Given the description of an element on the screen output the (x, y) to click on. 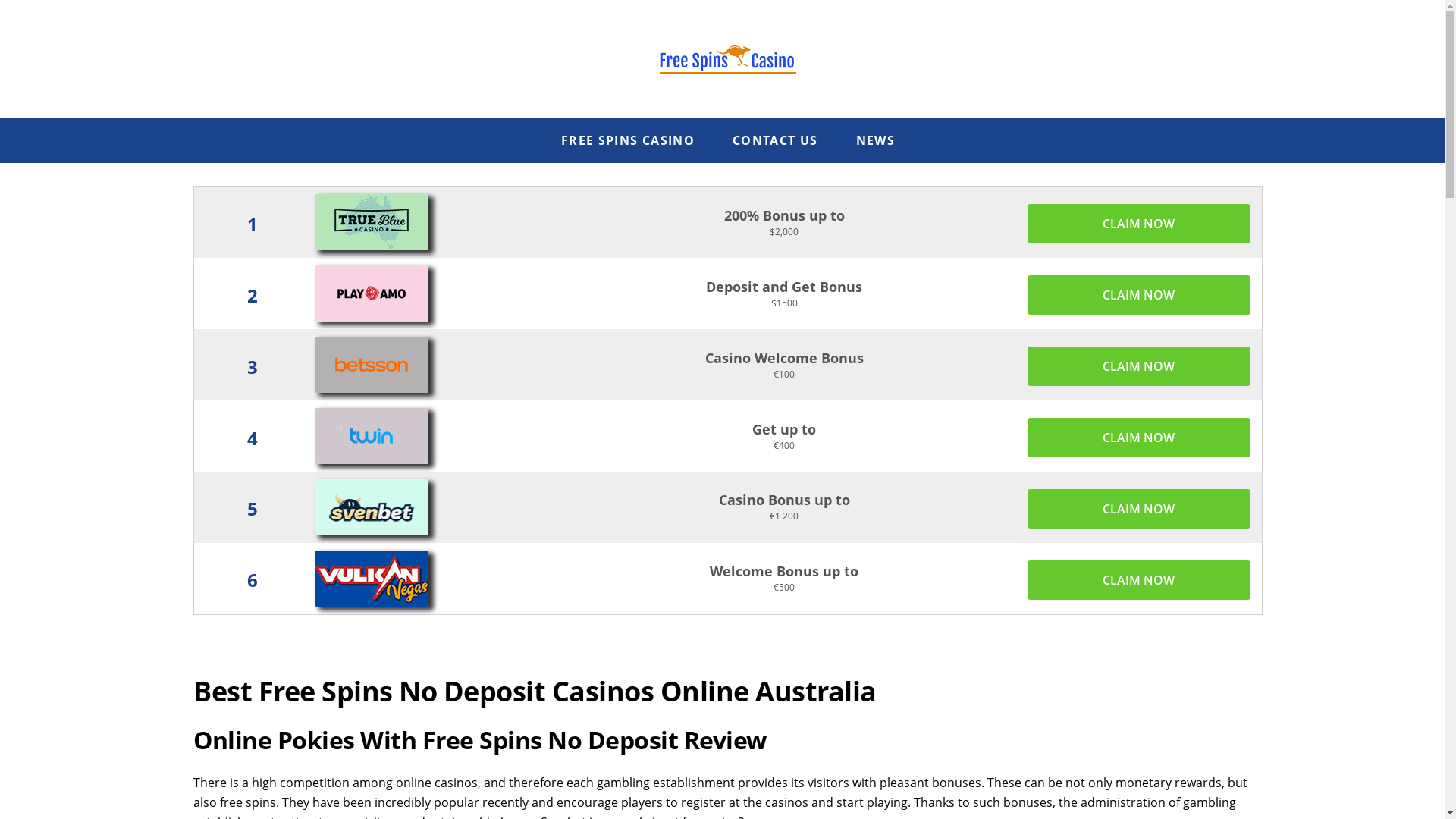
CLAIM NOW Element type: text (1138, 223)
CONTACT US Element type: text (775, 140)
FREE SPINS CASINO Element type: text (627, 140)
CLAIM NOW Element type: text (1138, 365)
CLAIM NOW Element type: text (1138, 508)
CLAIM NOW Element type: text (1138, 437)
NEWS Element type: text (875, 140)
CLAIM NOW Element type: text (1138, 579)
CLAIM NOW Element type: text (1138, 294)
